Given the description of an element on the screen output the (x, y) to click on. 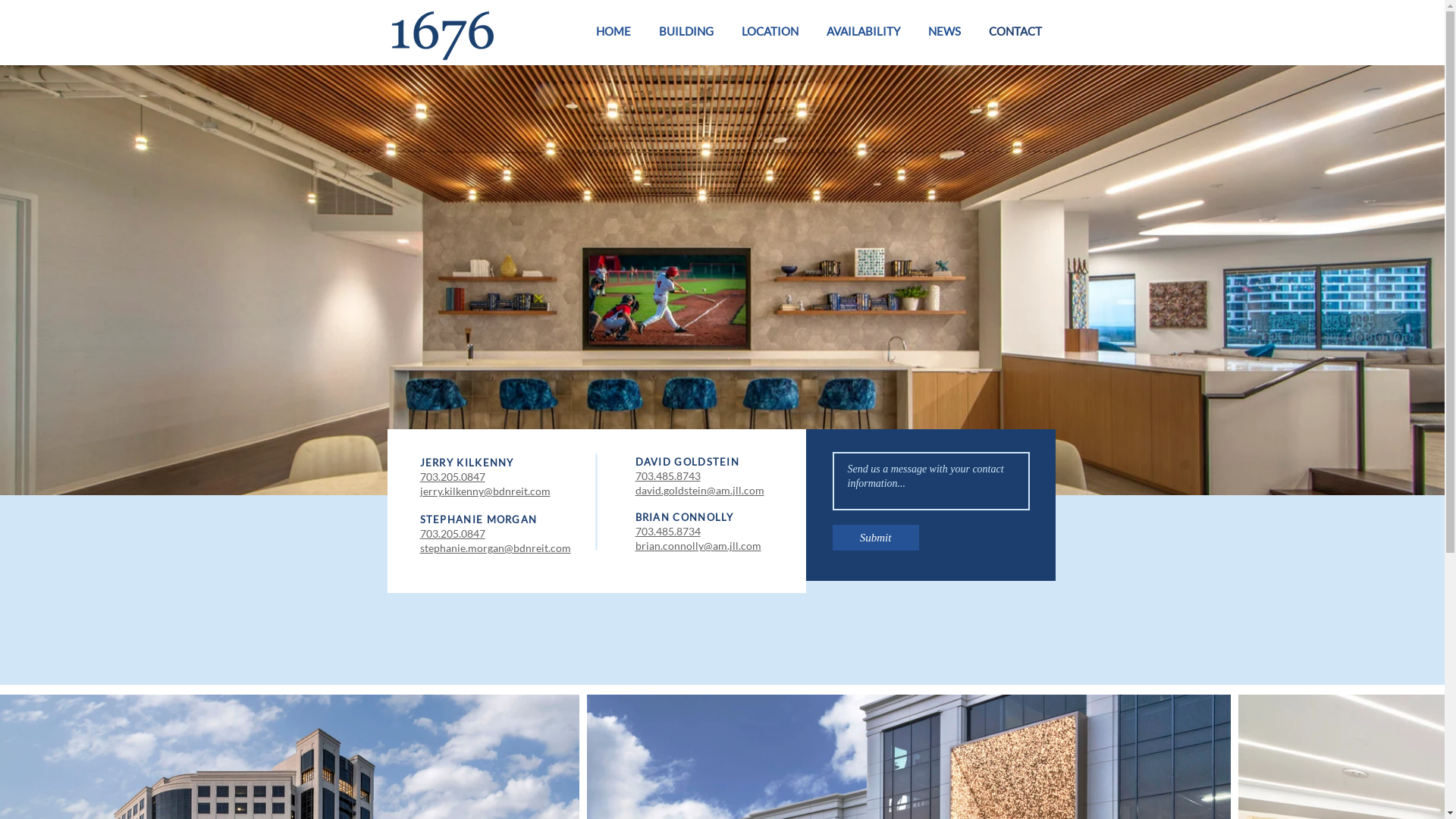
CONTACT Element type: text (1009, 31)
stephanie.morgan@bdnreit.com Element type: text (495, 547)
703.205.0847 Element type: text (452, 476)
NEWS Element type: text (944, 31)
LOCATION Element type: text (770, 31)
brian.connolly@am.jll.com Element type: text (698, 545)
Submit Element type: text (875, 537)
david.goldstein@am.jll.com Element type: text (699, 489)
BUILDING Element type: text (685, 31)
AVAILABILITY Element type: text (863, 31)
703.485.8734 Element type: text (667, 530)
703.205.0847 Element type: text (452, 533)
HOME Element type: text (618, 31)
jerry.kilkenny@bdnreit.com Element type: text (485, 490)
703.485.8743 Element type: text (667, 475)
